Given the description of an element on the screen output the (x, y) to click on. 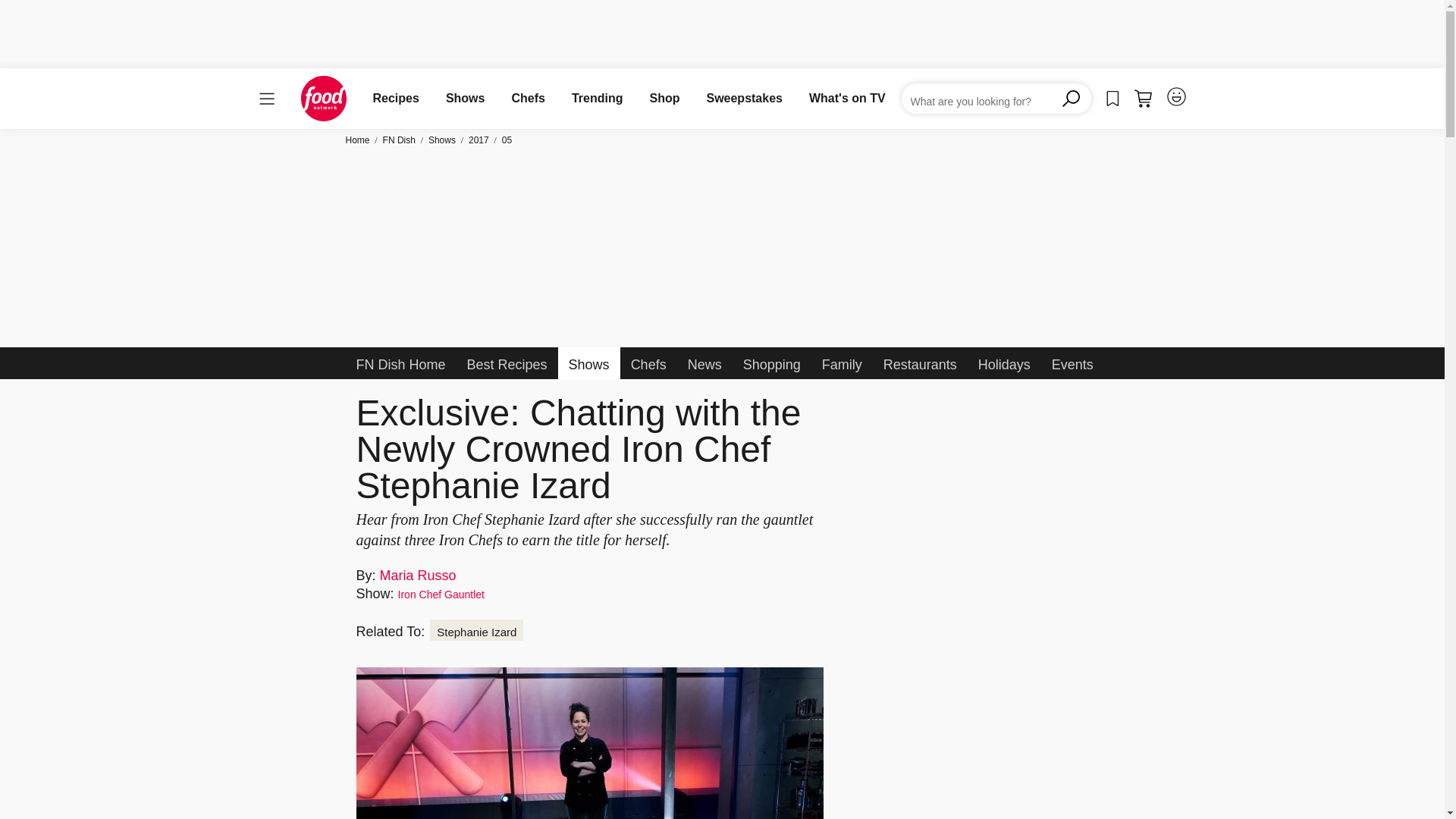
Shows (464, 97)
Recipes (395, 97)
home (322, 98)
